Given the description of an element on the screen output the (x, y) to click on. 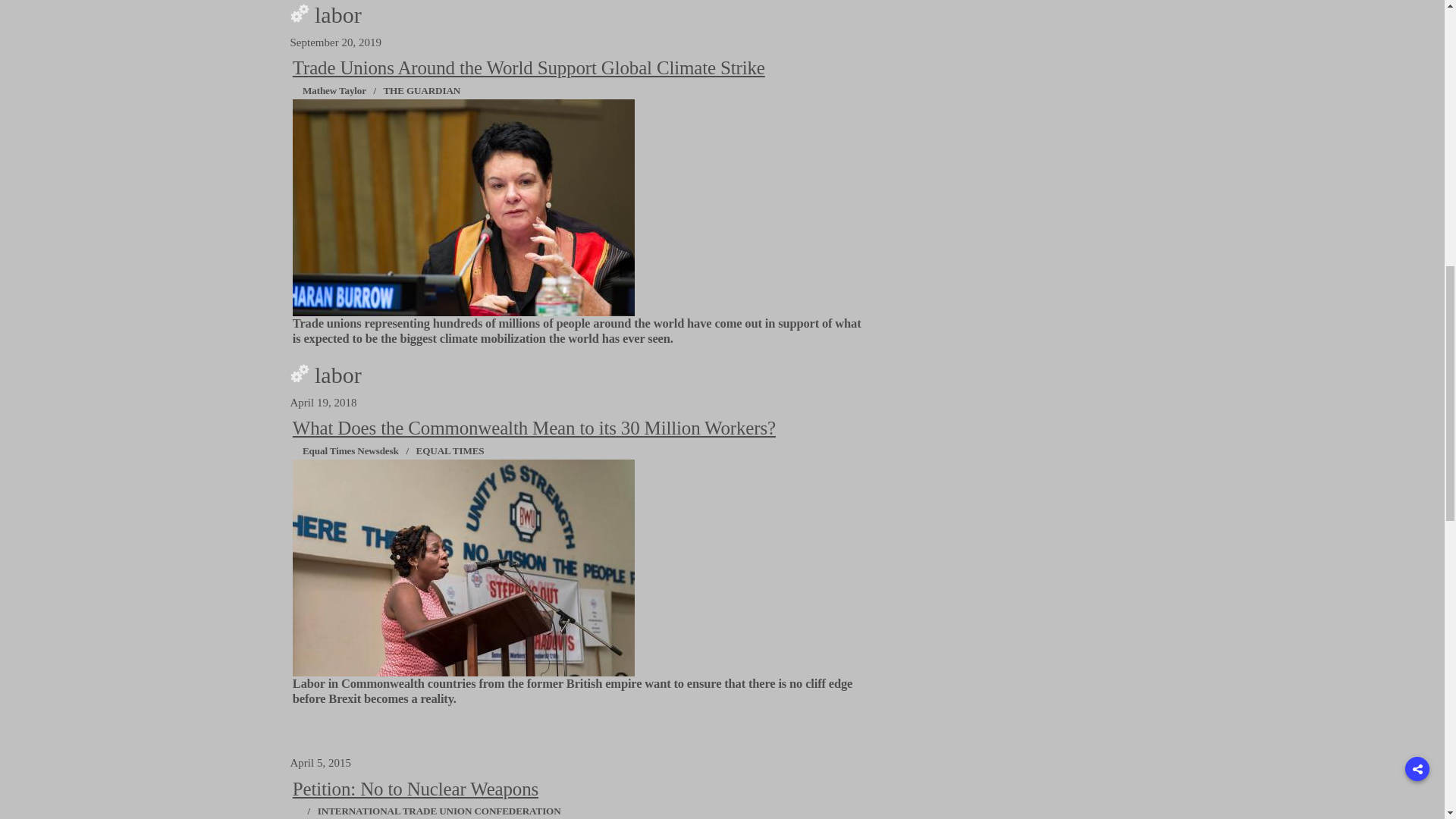
What Does the Commonwealth Mean to its 30 Million Workers? (534, 427)
Trade Unions Around the World Support Global Climate Strike (528, 67)
Petition: No to Nuclear Weapons (415, 788)
